Given the description of an element on the screen output the (x, y) to click on. 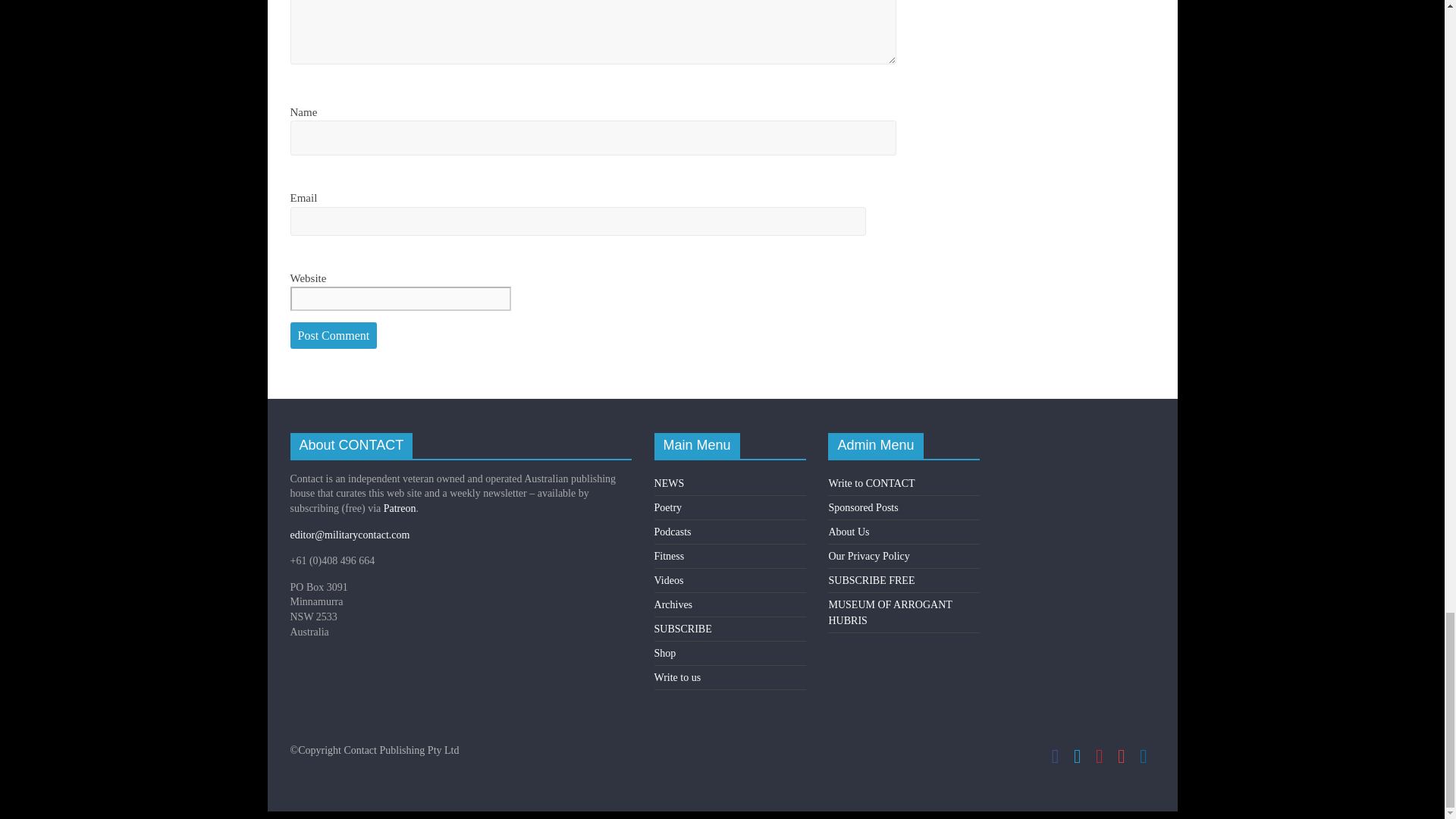
Post Comment (333, 335)
